Given the description of an element on the screen output the (x, y) to click on. 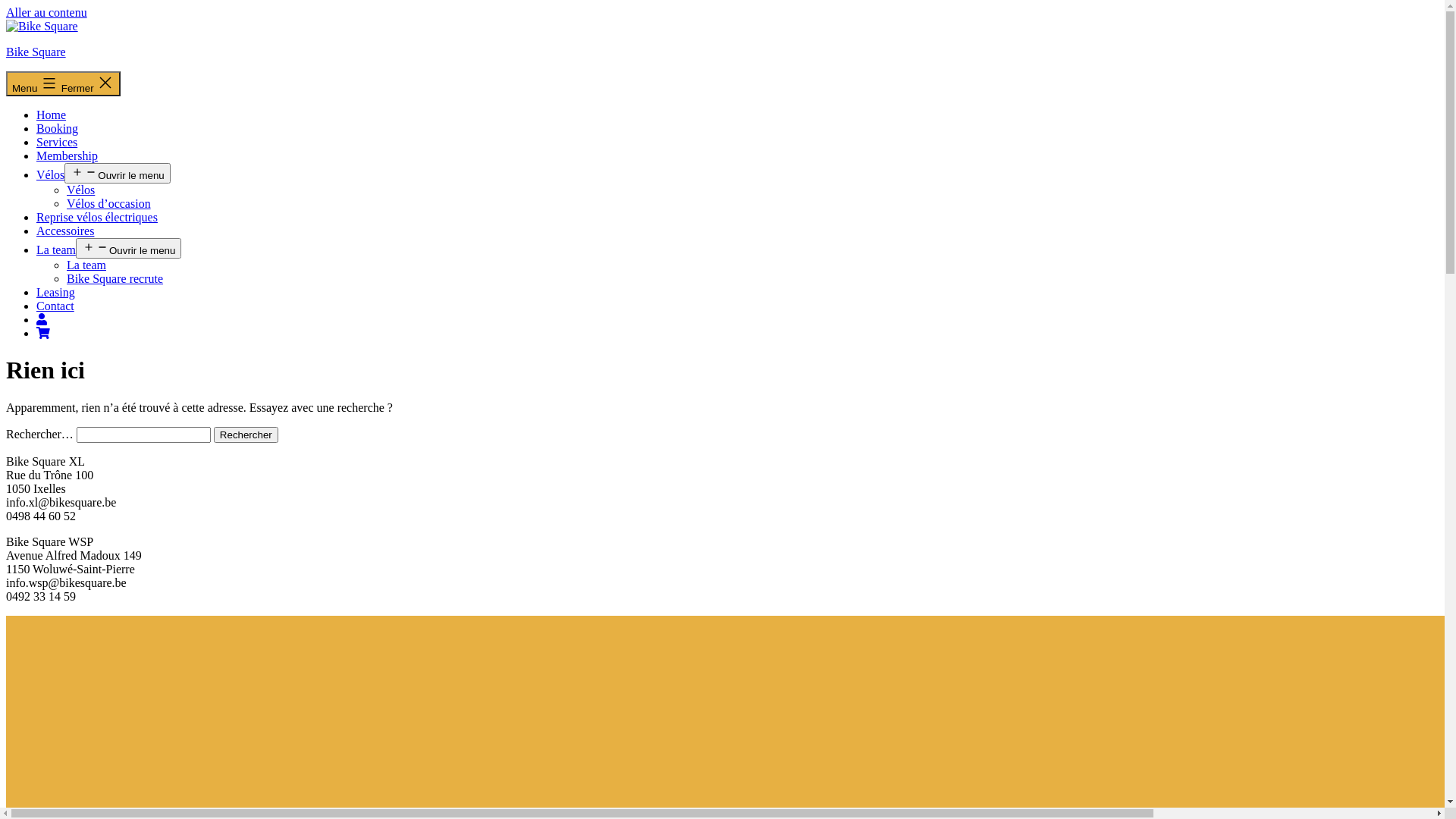
Booking Element type: text (57, 128)
Ouvrir le menu Element type: text (128, 248)
Ouvrir le menu Element type: text (116, 173)
Bike Square Element type: text (35, 51)
La team Element type: text (55, 249)
Leasing Element type: text (55, 291)
Membership Element type: text (66, 155)
Services Element type: text (56, 141)
Home Element type: text (50, 114)
Accessoires Element type: text (65, 230)
Rechercher Element type: text (245, 434)
Contact Element type: text (55, 305)
La team Element type: text (86, 264)
Menu Fermer Element type: text (63, 83)
Aller au contenu Element type: text (46, 12)
Bike Square recrute Element type: text (114, 278)
